Given the description of an element on the screen output the (x, y) to click on. 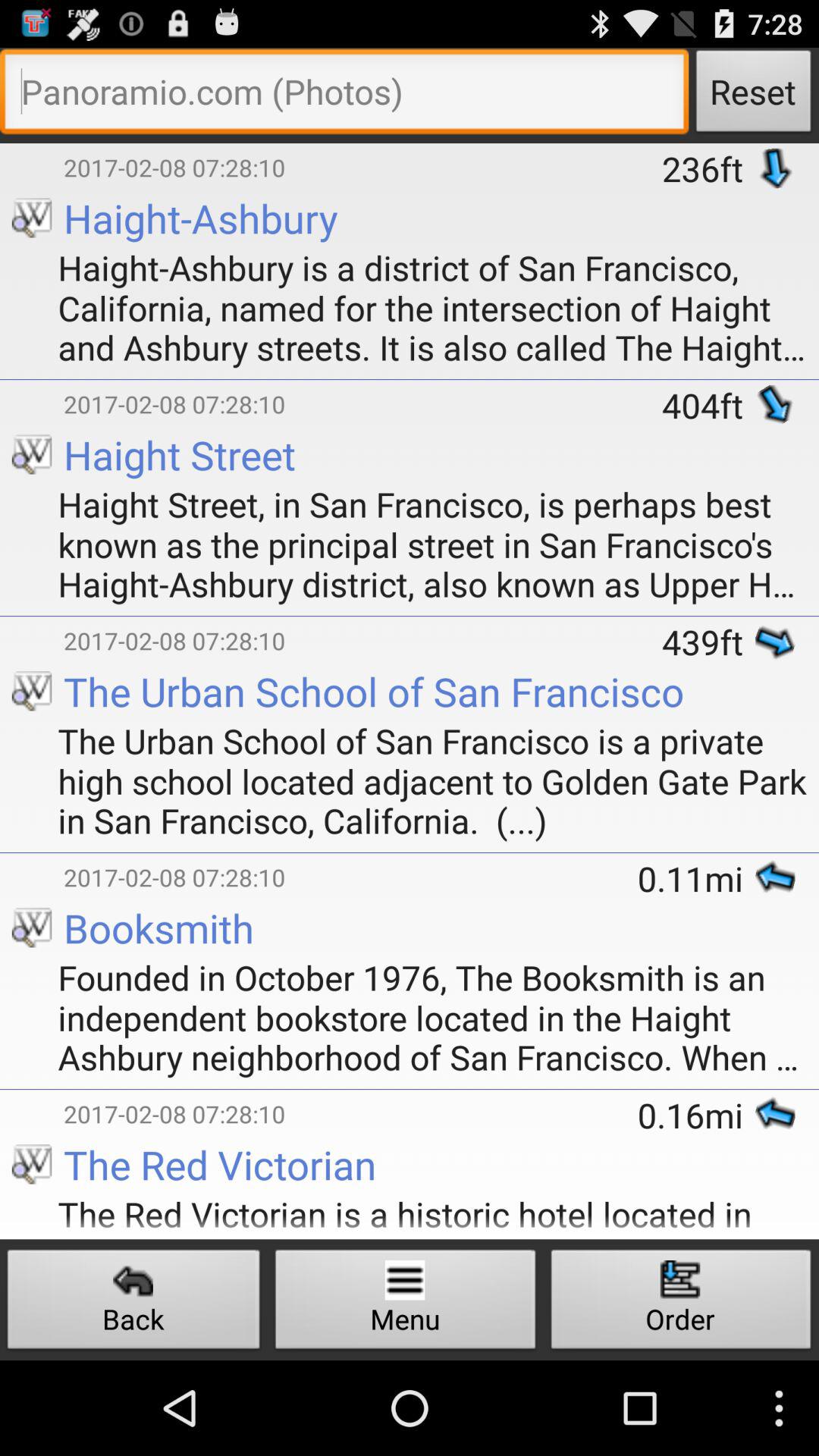
turn on the 439ft item (708, 641)
